Given the description of an element on the screen output the (x, y) to click on. 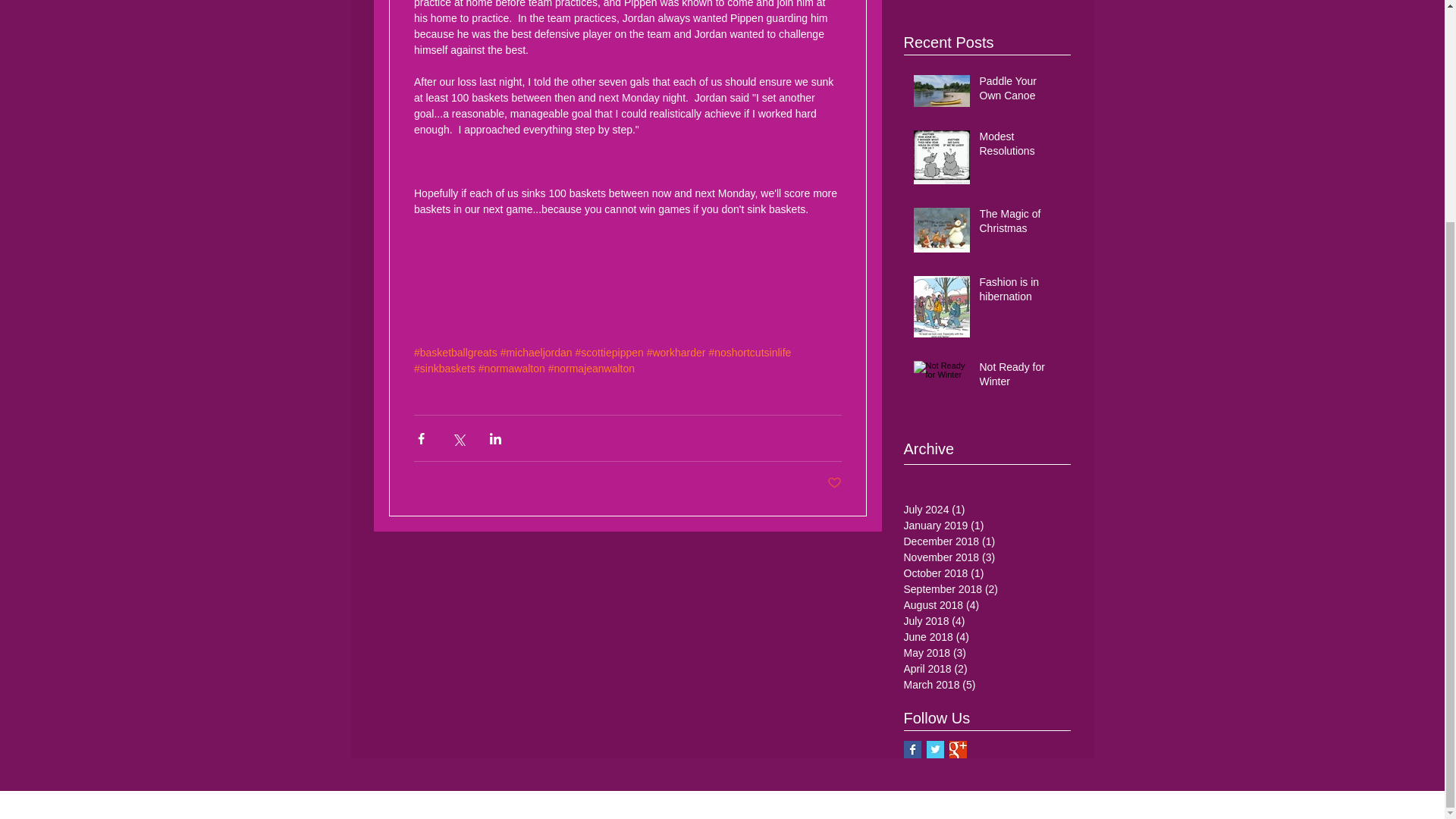
Not Ready for Winter (1020, 377)
Post not marked as liked (834, 483)
Modest Resolutions (1020, 147)
Fashion is in hibernation (1020, 293)
Norma Jean (987, 3)
The Magic of Christmas (1020, 224)
Paddle Your Own Canoe (1020, 91)
Norma Jean (987, 3)
